Given the description of an element on the screen output the (x, y) to click on. 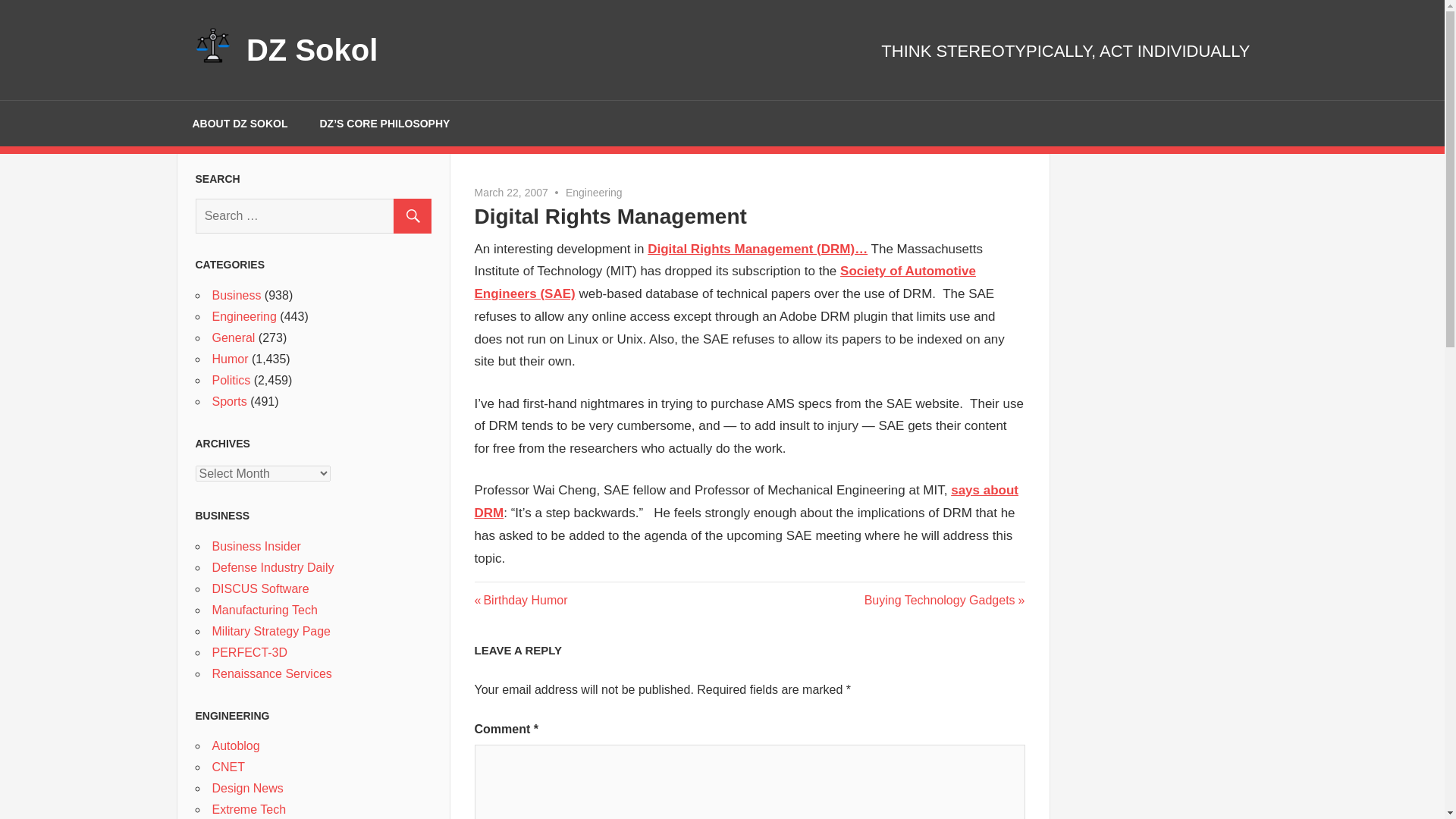
Engineering (244, 316)
No comments (594, 192)
General (234, 337)
12:25 am (511, 192)
Manufacturing Tech (264, 609)
Autoblog (236, 745)
ABOUT DZ SOKOL (239, 123)
says about DRM (745, 501)
Sports (229, 400)
Design News (247, 788)
Politics (231, 379)
Business Insider (256, 545)
Extreme Tech (249, 809)
DZ Sokol (311, 49)
Ceramic 3D Printing (250, 652)
